Given the description of an element on the screen output the (x, y) to click on. 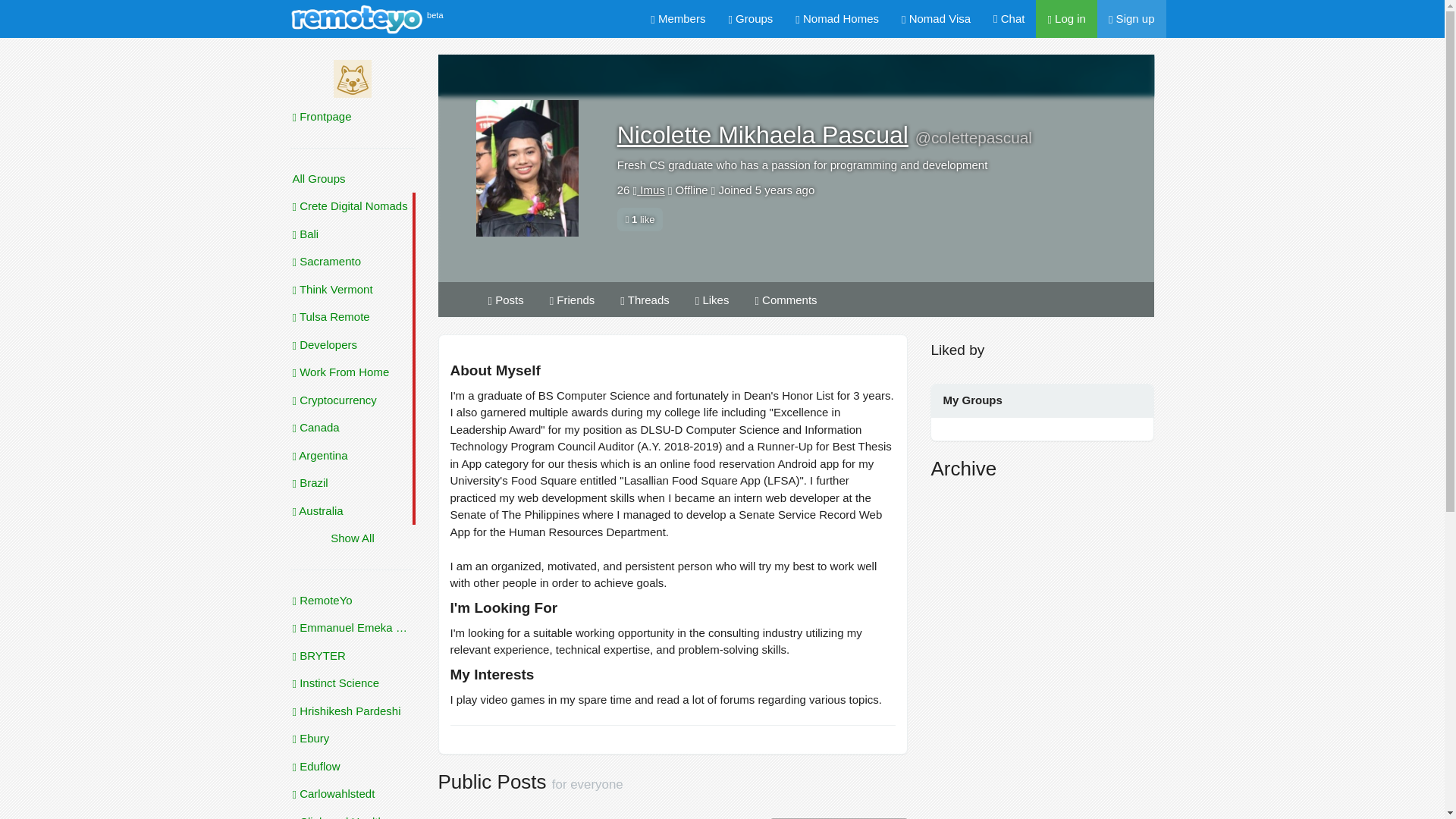
Updated 6 months ago (351, 601)
Sign up (1131, 18)
Crete Digital Nomads (351, 206)
Instinct Science (351, 683)
Show All (351, 538)
Log in (1066, 18)
Updated - (351, 738)
Nomad Homes (836, 18)
Updated - (351, 794)
Work From Home (351, 372)
